Given the description of an element on the screen output the (x, y) to click on. 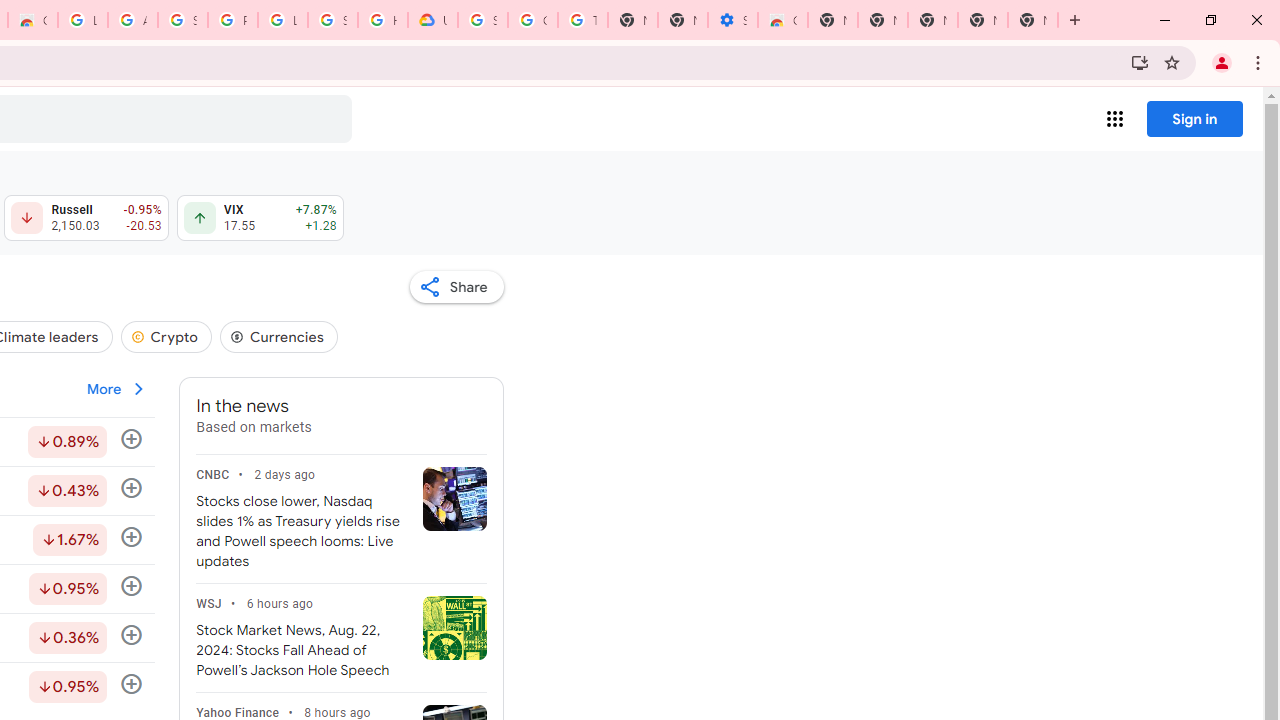
New Tab (1032, 20)
VIX 17.55 Up by 7.87% +1.28 (260, 218)
Share (456, 286)
Russell 2,150.03 Down by 0.95% -20.53 (85, 218)
Sign in - Google Accounts (333, 20)
Install Google Finance (1139, 62)
Ad Settings (132, 20)
More (117, 389)
New Tab (832, 20)
Currencies (278, 336)
Sign in - Google Accounts (483, 20)
